Given the description of an element on the screen output the (x, y) to click on. 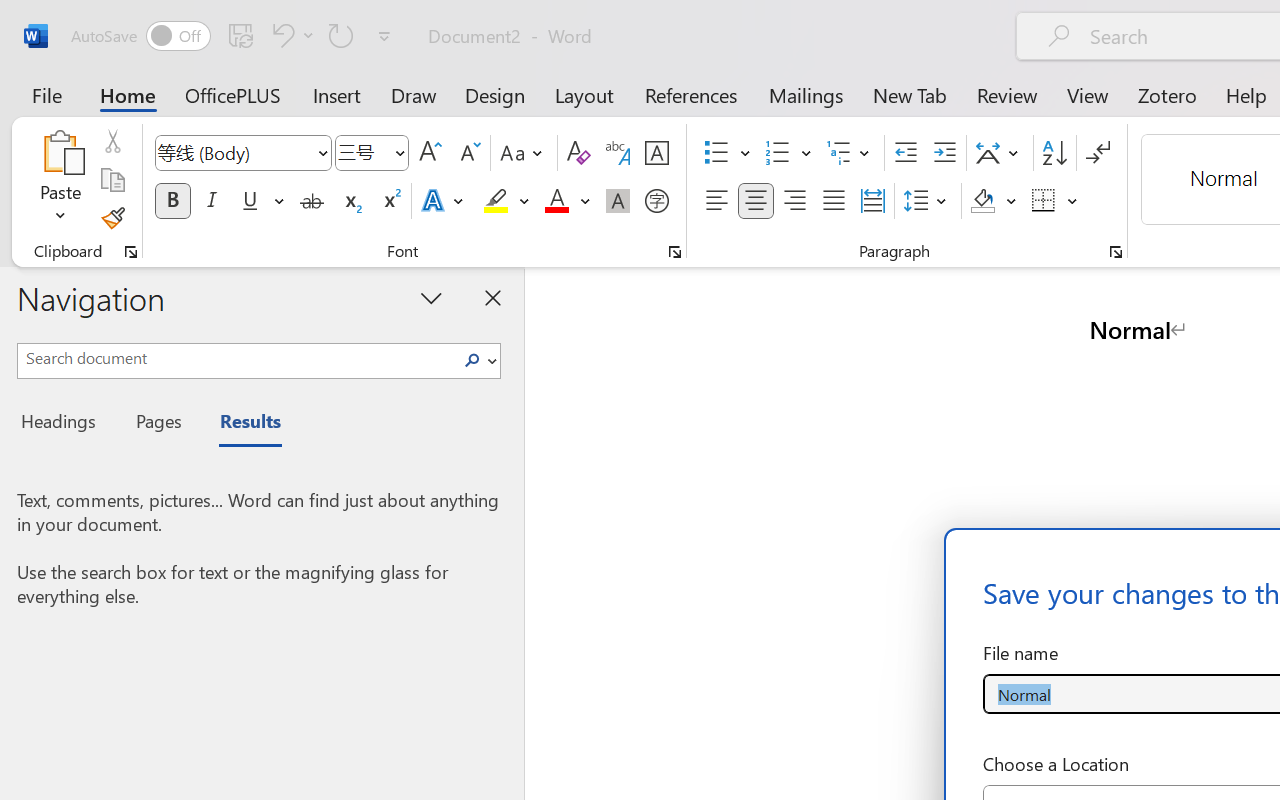
Results (240, 424)
Decrease Indent (906, 153)
Insert (337, 94)
Paragraph... (1115, 252)
Underline (261, 201)
Numbering (778, 153)
Undo Style (280, 35)
Font... (675, 252)
Character Border (656, 153)
Superscript (390, 201)
Class: NetUIImage (471, 360)
Font (242, 153)
Bold (172, 201)
Font Color Red (556, 201)
